Given the description of an element on the screen output the (x, y) to click on. 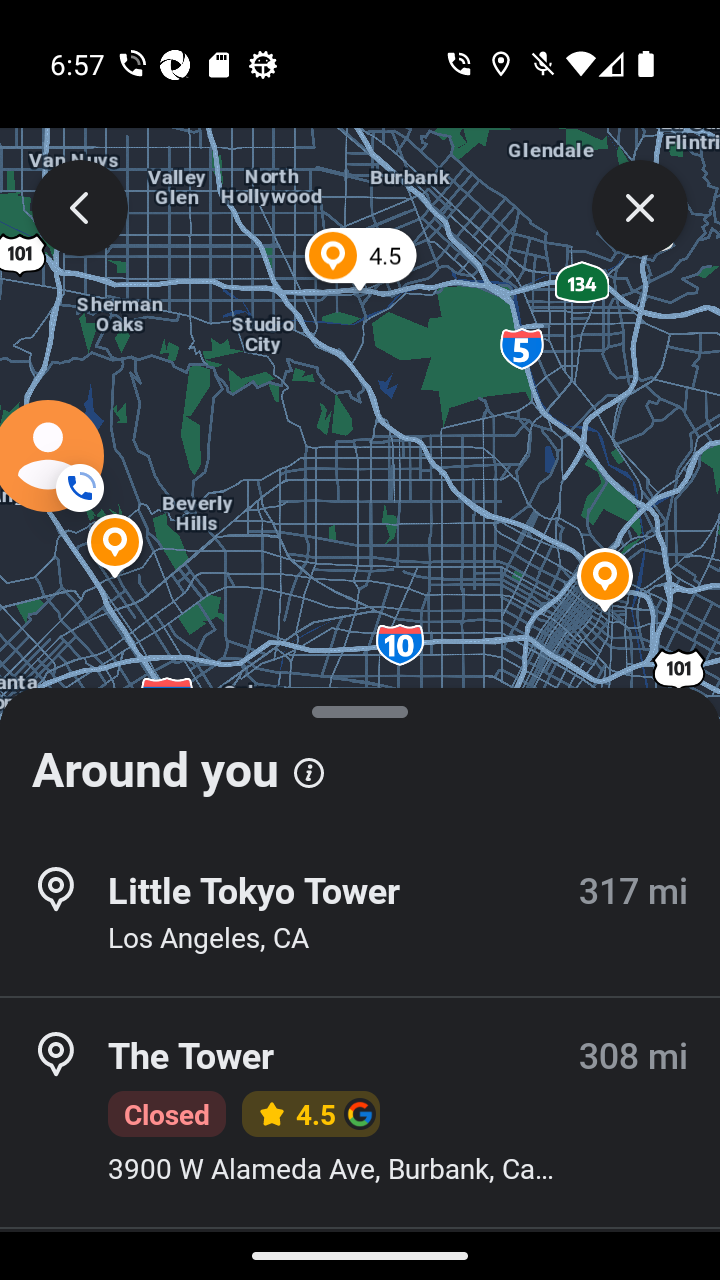
Around you (360, 760)
University Mall 1828 mi Oxford, MS (360, 914)
University-Oxford Airport 1828 mi Oxford, MS (360, 1079)
